Given the description of an element on the screen output the (x, y) to click on. 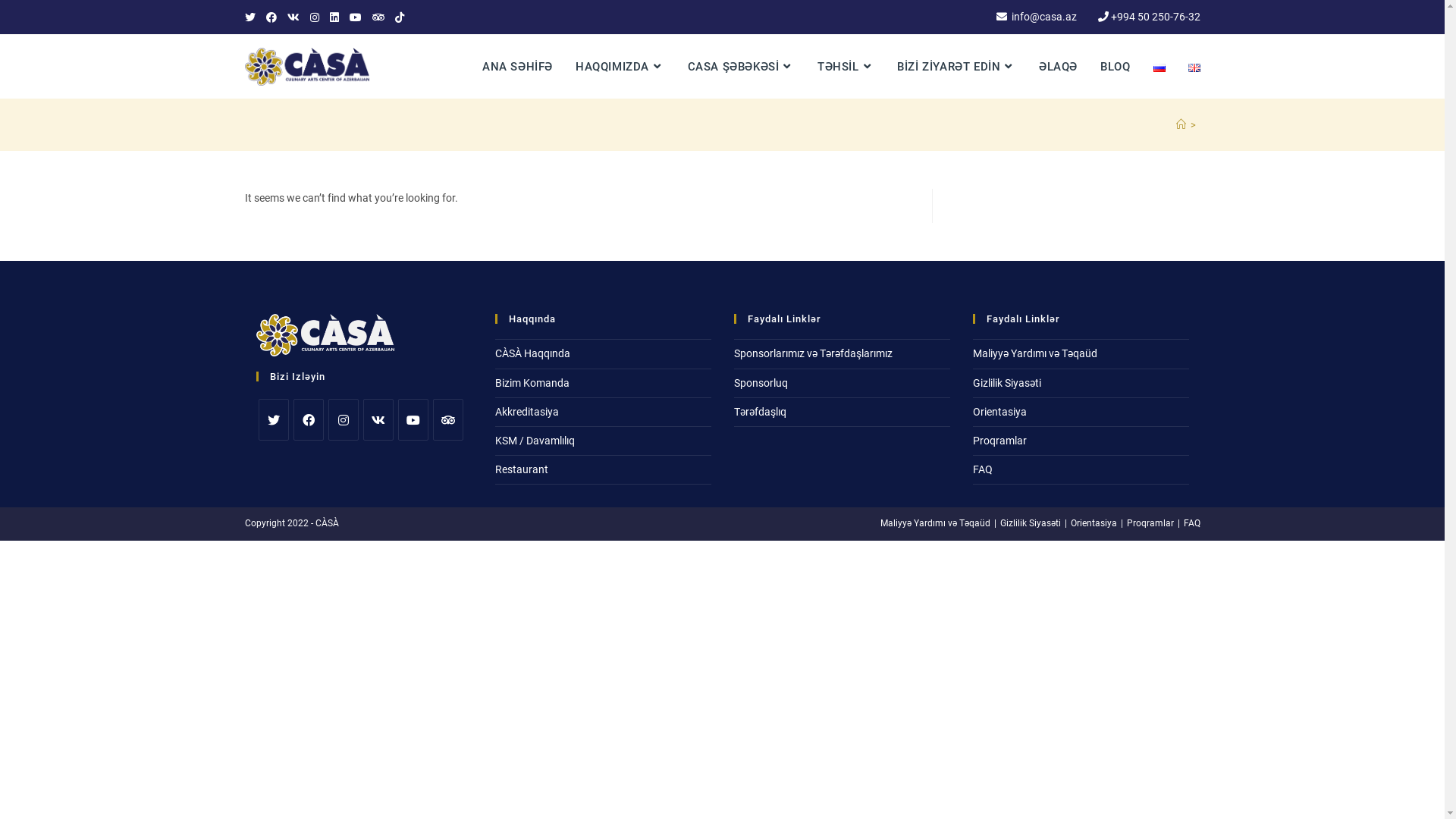
Bizim Komanda Element type: text (531, 382)
HAQQIMIZDA Element type: text (620, 66)
Proqramlar Element type: text (1149, 522)
Sponsorluq Element type: text (760, 382)
Akkreditasiya Element type: text (526, 411)
Orientasiya Element type: text (1093, 522)
FAQ Element type: text (981, 469)
FAQ Element type: text (1191, 522)
Proqramlar Element type: text (999, 440)
Orientasiya Element type: text (999, 411)
Restaurant Element type: text (520, 469)
BLOQ Element type: text (1114, 66)
